Given the description of an element on the screen output the (x, y) to click on. 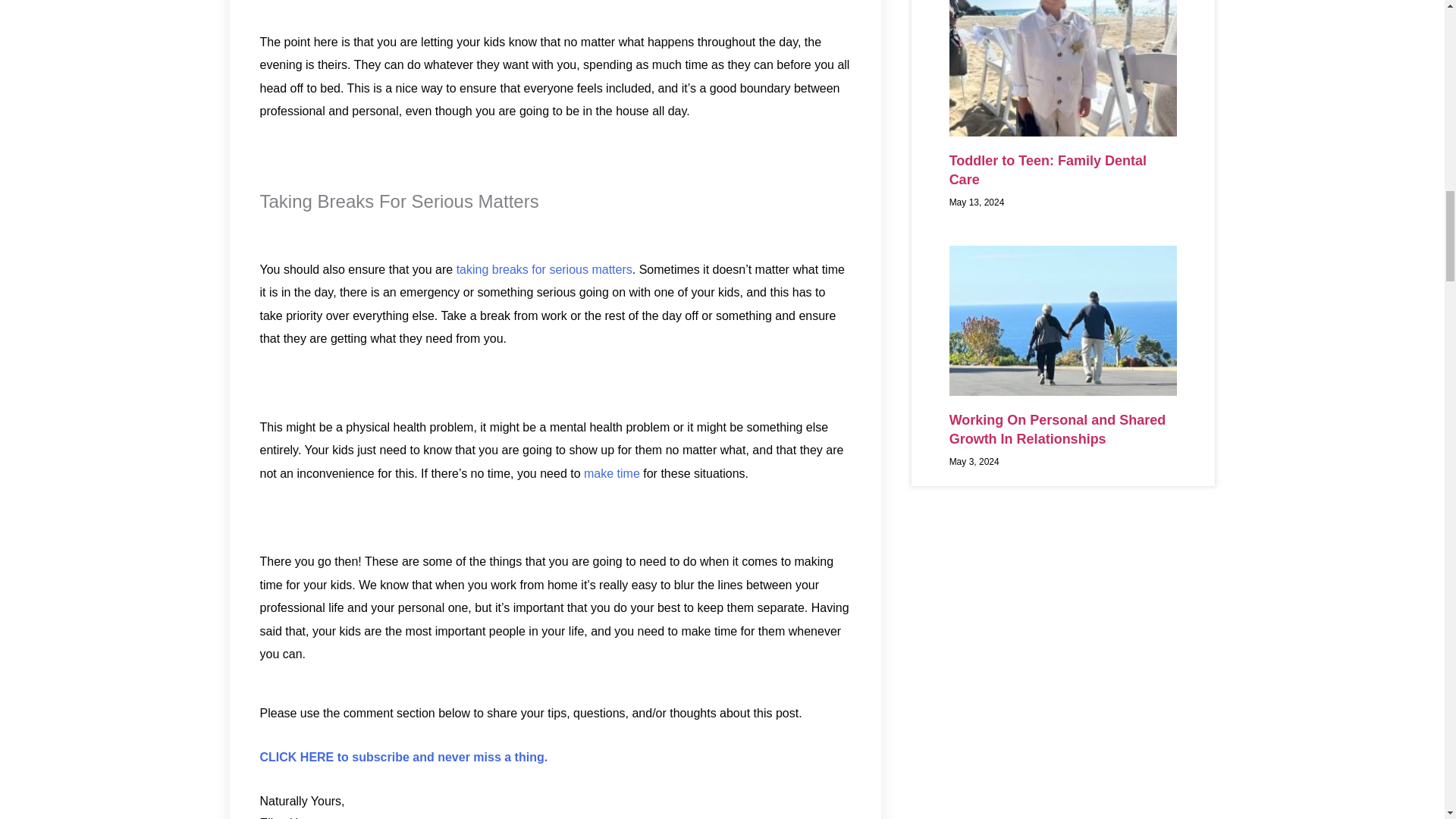
CLICK HERE to subscribe and never miss a thing. (403, 757)
taking breaks for serious matters (544, 269)
make time (611, 472)
